Given the description of an element on the screen output the (x, y) to click on. 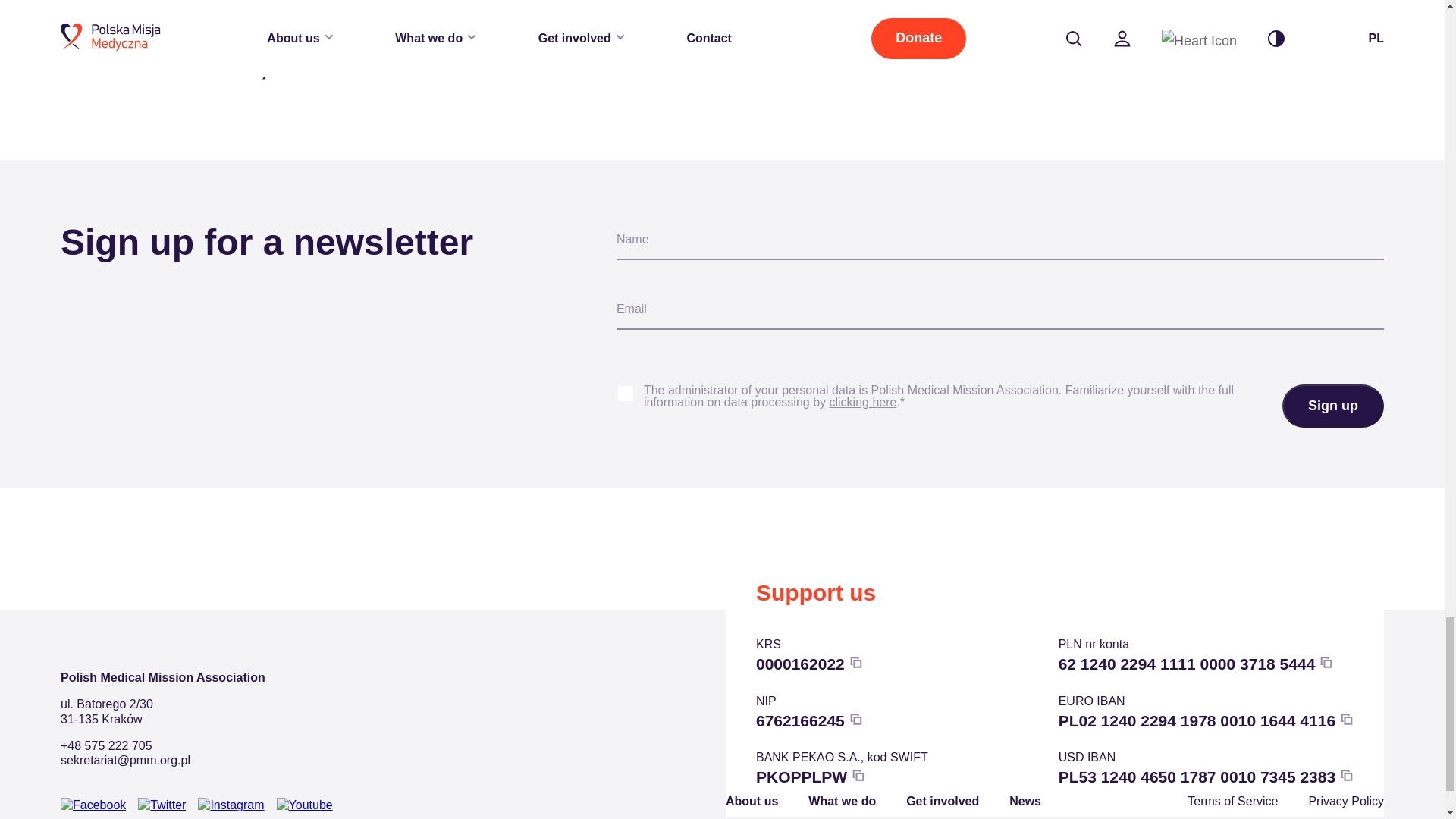
Instagram (230, 804)
Twitter (162, 804)
Sign up (1333, 406)
Facebook (93, 804)
Youtube (304, 804)
